Given the description of an element on the screen output the (x, y) to click on. 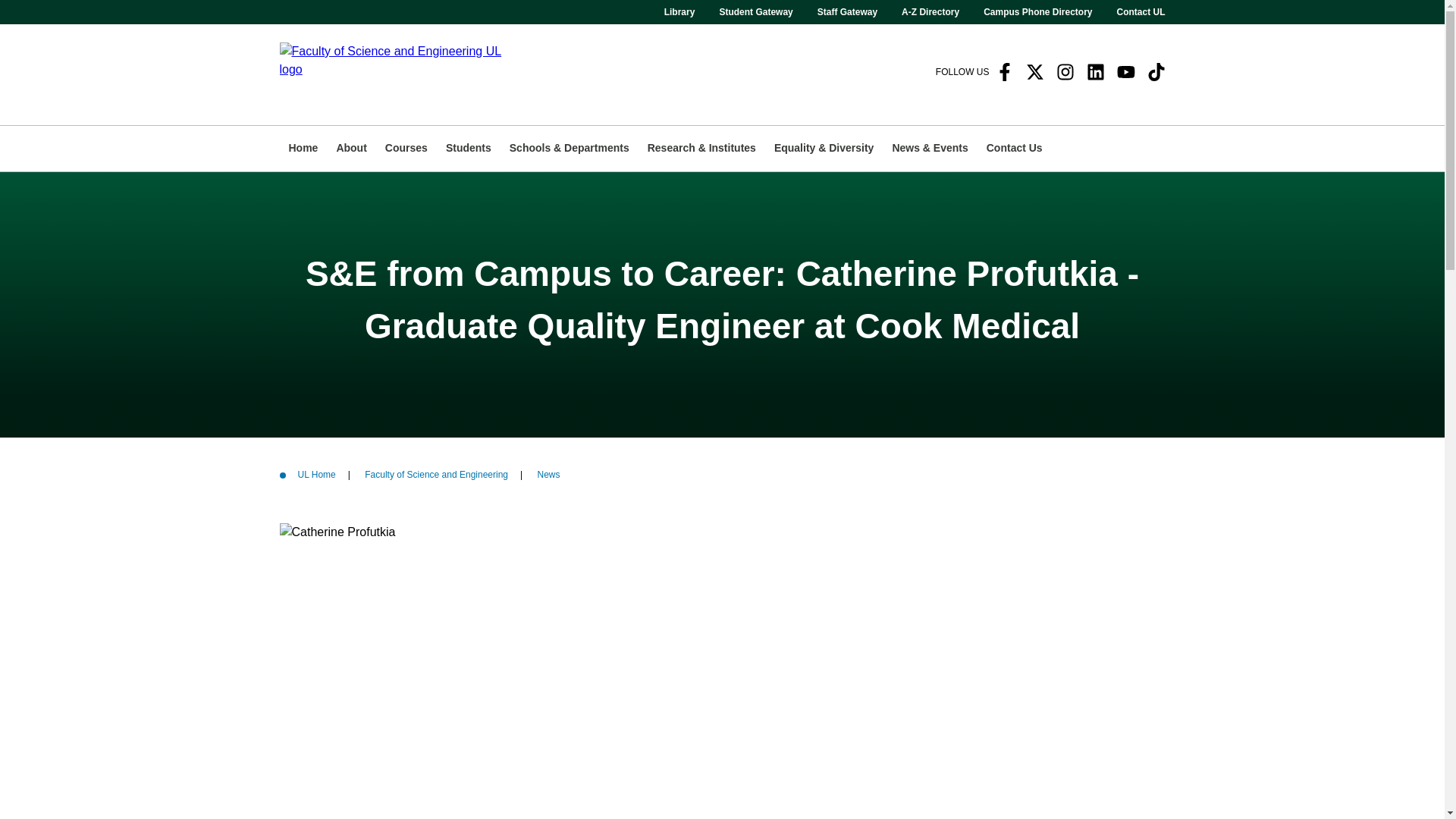
About (350, 148)
Staff Gateway (847, 12)
UL Home (315, 475)
Follow University of Limerick on Instagram (1064, 72)
Follow University of Limerick on YouTube (1125, 72)
Home (302, 148)
News (548, 475)
Image (397, 74)
Students (468, 148)
A-Z Directory (930, 12)
Faculty of Science and Engineering (436, 475)
About (350, 148)
Student Gateway (755, 12)
Contact Us (1013, 148)
